Given the description of an element on the screen output the (x, y) to click on. 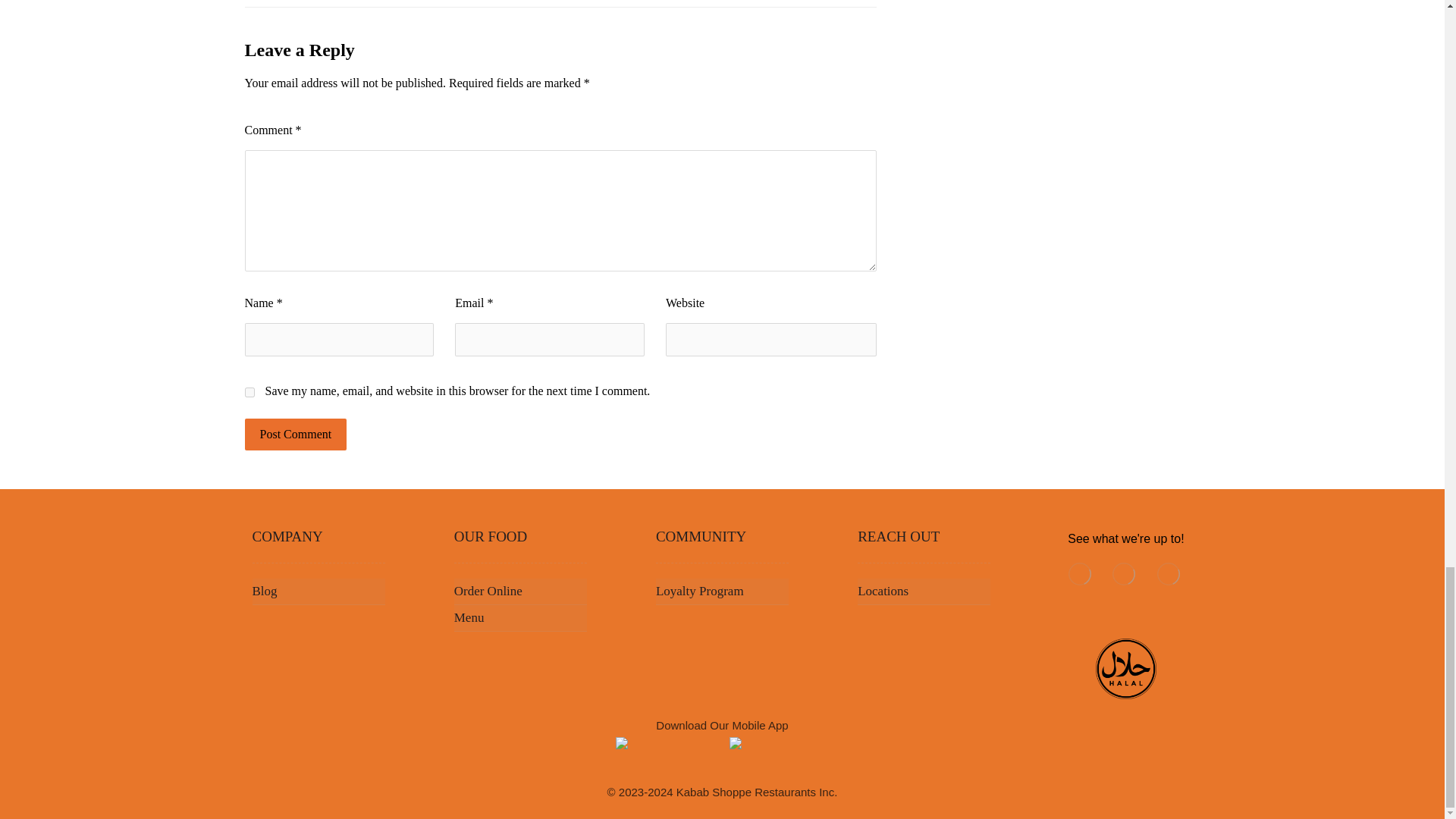
Post Comment (295, 434)
Blog (317, 591)
yes (248, 392)
Post Comment (295, 434)
Order Online (520, 591)
